Given the description of an element on the screen output the (x, y) to click on. 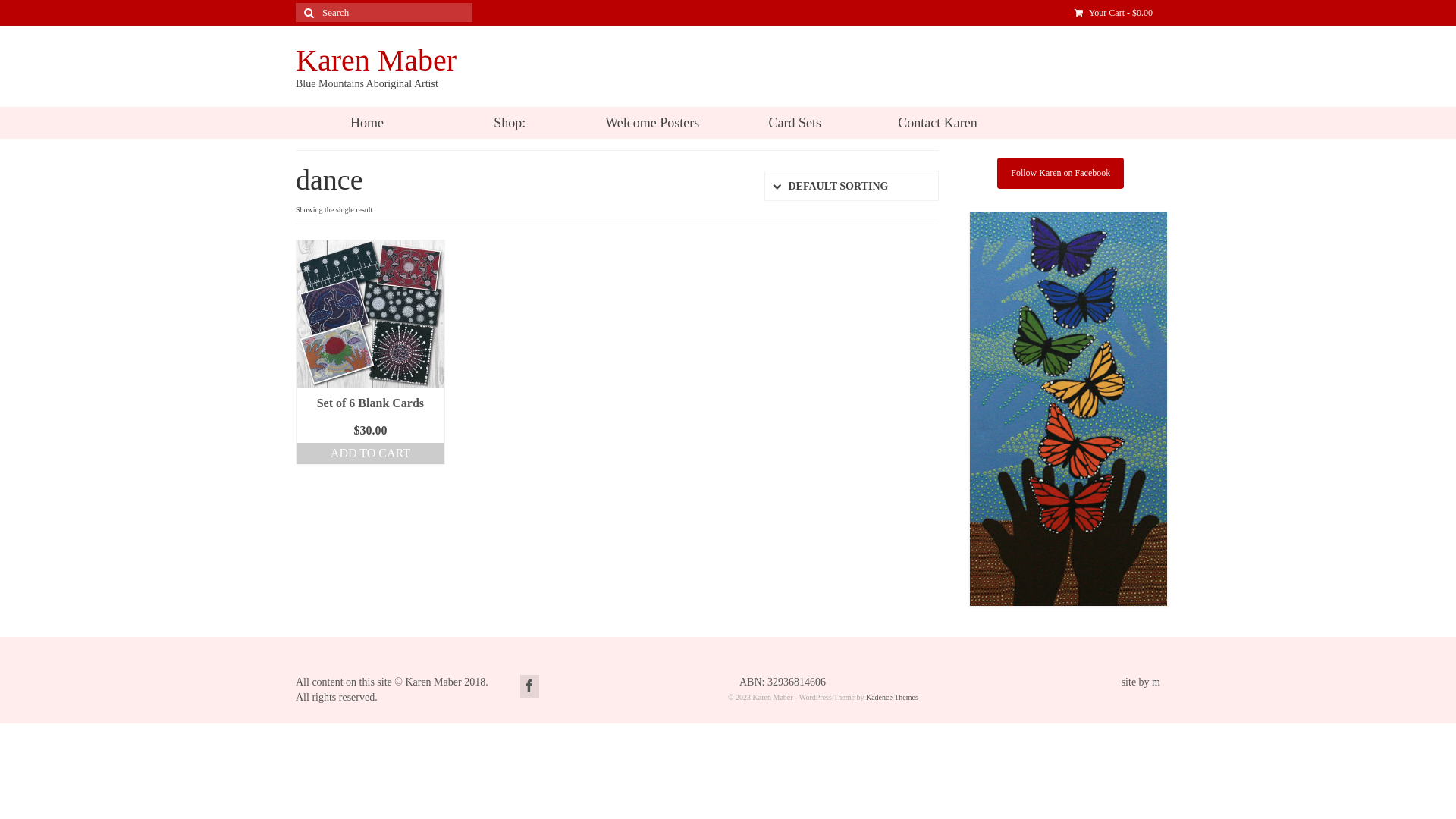
Kadence Themes Element type: text (892, 697)
Set of 6 Blank Cards Element type: text (370, 403)
ADD TO CART Element type: text (370, 453)
Home Element type: text (366, 122)
Contact Karen Element type: text (937, 122)
Shop: Element type: text (509, 122)
Your Cart - $0.00 Element type: text (1113, 12)
Follow Karen on Facebook Element type: text (1060, 172)
Card Sets Element type: text (794, 122)
Welcome Posters Element type: text (651, 122)
Karen Maber Element type: text (375, 60)
m Element type: text (1155, 681)
